Given the description of an element on the screen output the (x, y) to click on. 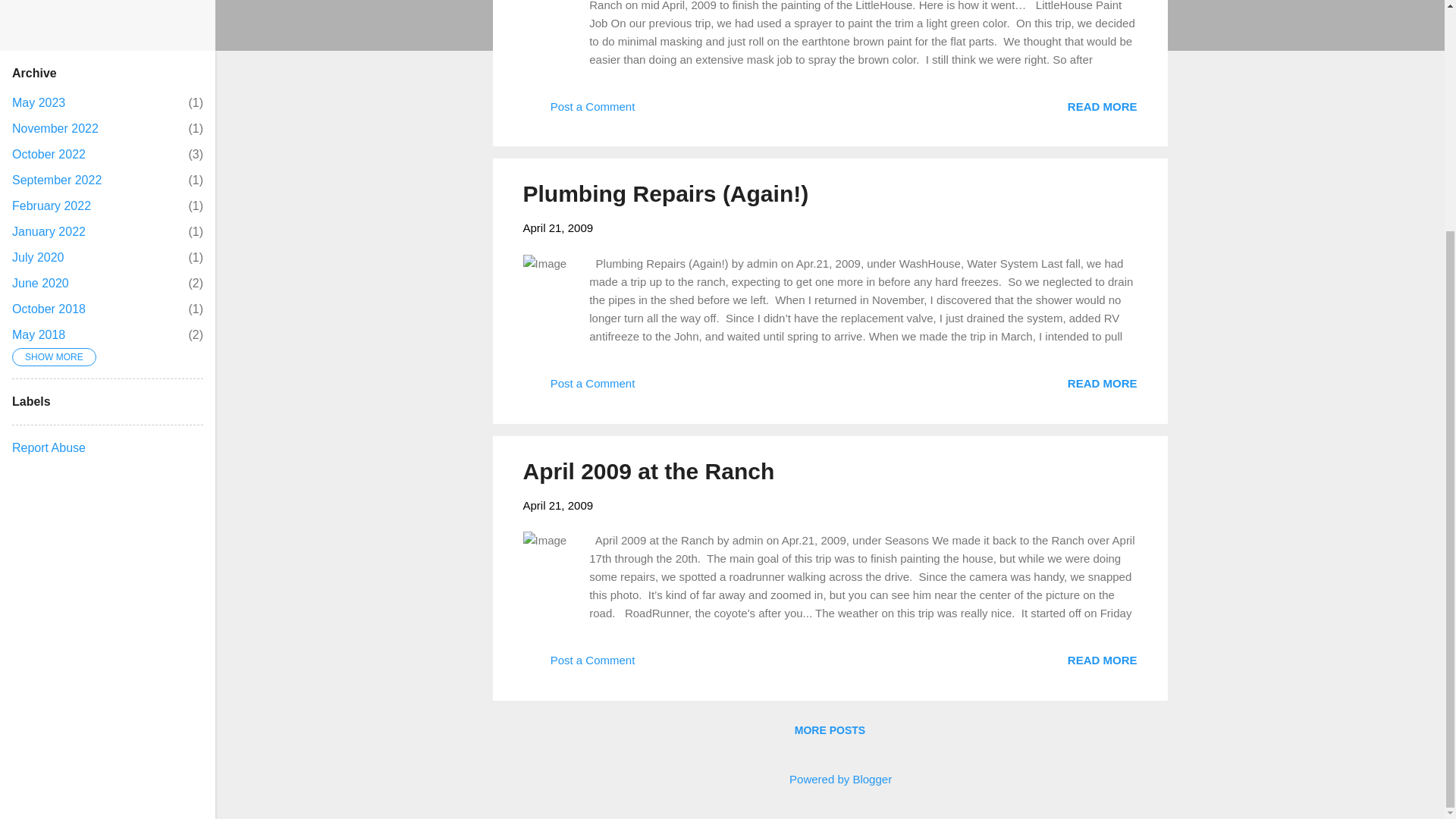
Post a Comment (578, 111)
April 2009 at the Ranch (648, 471)
READ MORE (38, 102)
Powered by Blogger (37, 256)
Painting the LittleHouse (1102, 659)
READ MORE (829, 779)
